Given the description of an element on the screen output the (x, y) to click on. 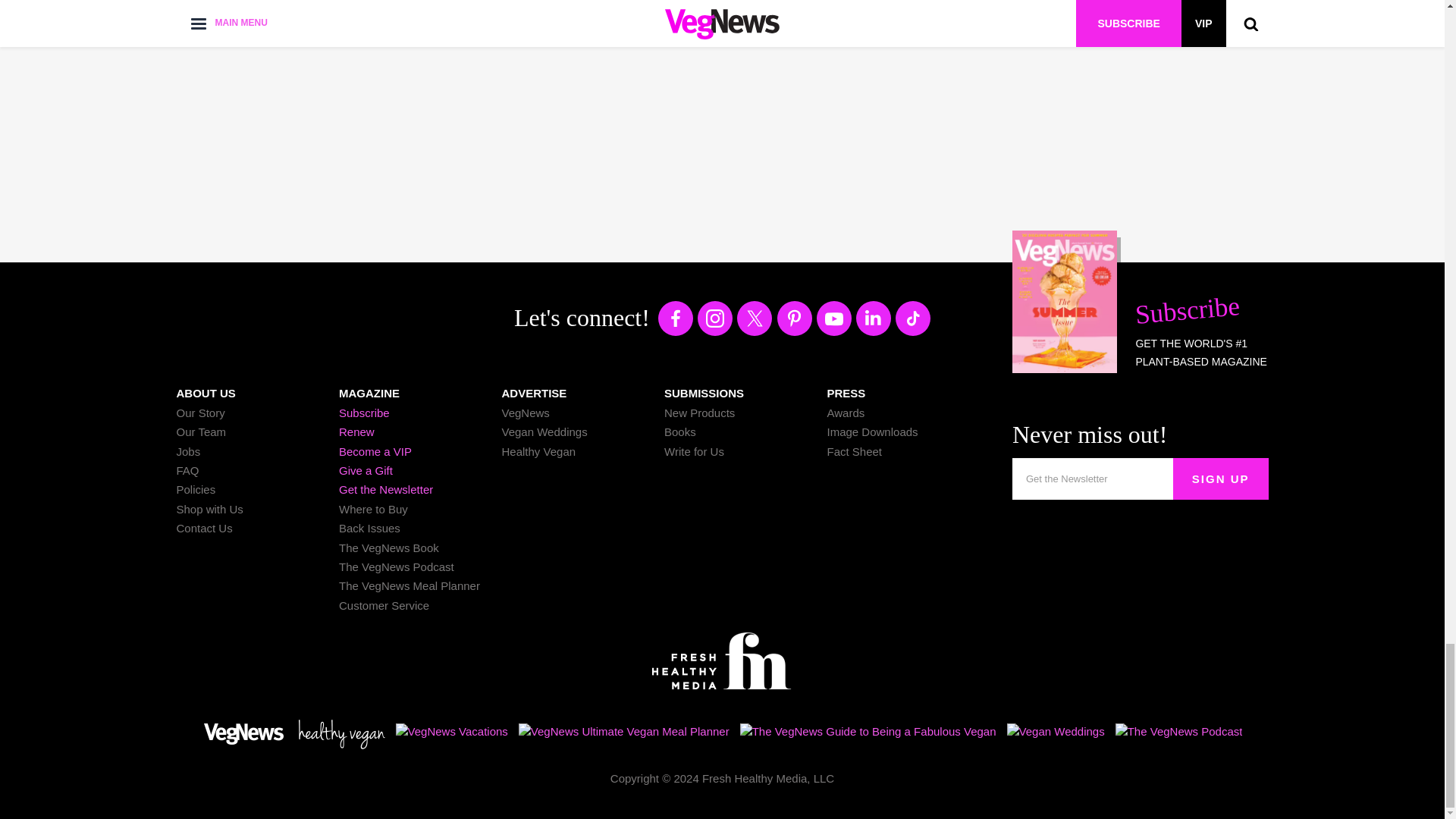
Sign Up (1220, 478)
